Given the description of an element on the screen output the (x, y) to click on. 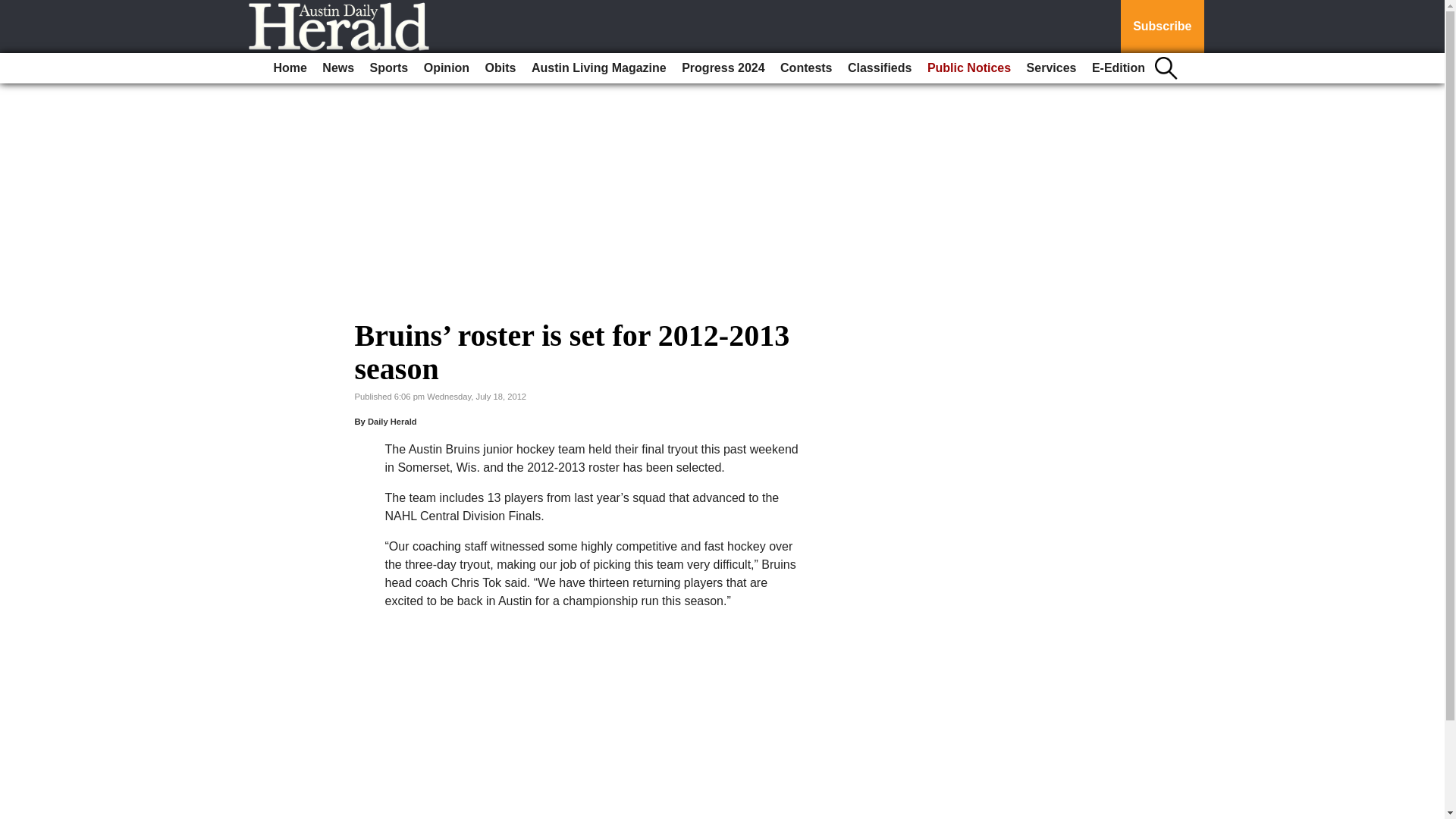
Opinion (446, 68)
Progress 2024 (722, 68)
Contests (806, 68)
Austin Living Magazine (598, 68)
Classifieds (879, 68)
Obits (500, 68)
Subscribe (1162, 26)
Public Notices (968, 68)
Home (289, 68)
Services (1051, 68)
